Given the description of an element on the screen output the (x, y) to click on. 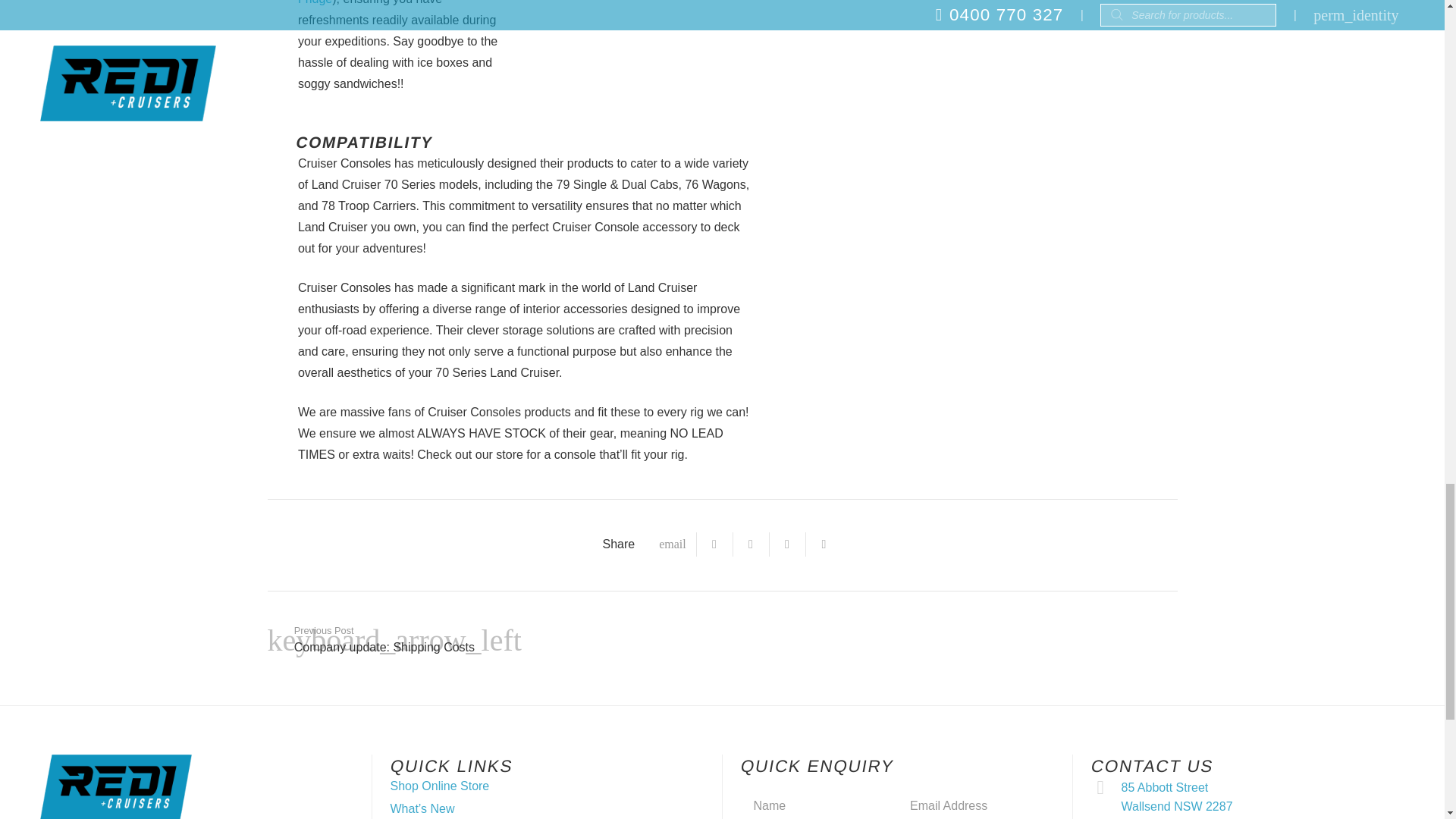
Share this (715, 544)
Pin this (824, 544)
Email this (672, 544)
Tweet this (751, 544)
Company update: Shipping Costs (494, 639)
Share this (788, 544)
